Given the description of an element on the screen output the (x, y) to click on. 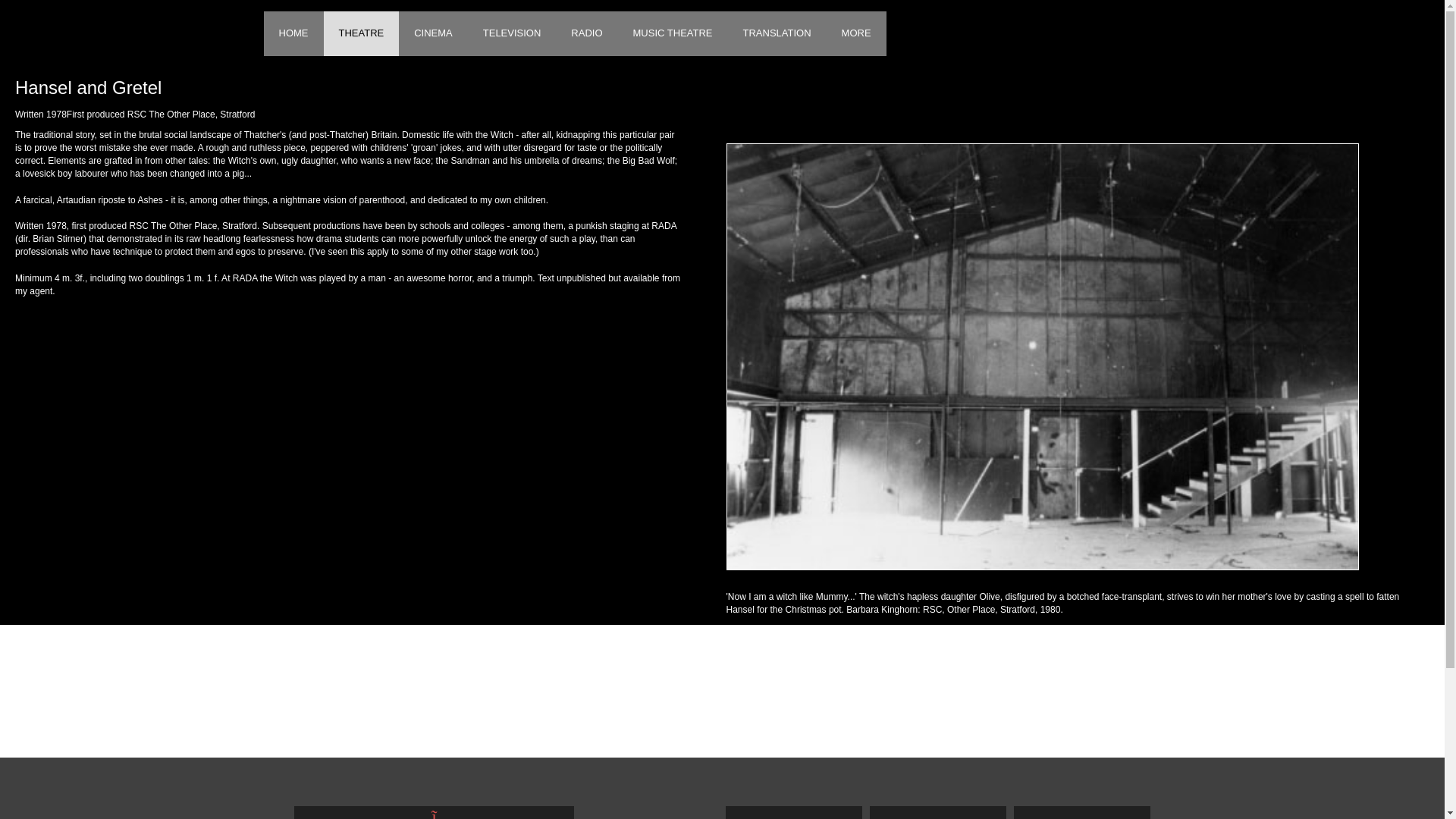
TELEVISION (511, 33)
MUSIC THEATRE (672, 33)
CINEMA (432, 33)
RADIO (586, 33)
HOME (293, 33)
THEATRE (360, 33)
